Given the description of an element on the screen output the (x, y) to click on. 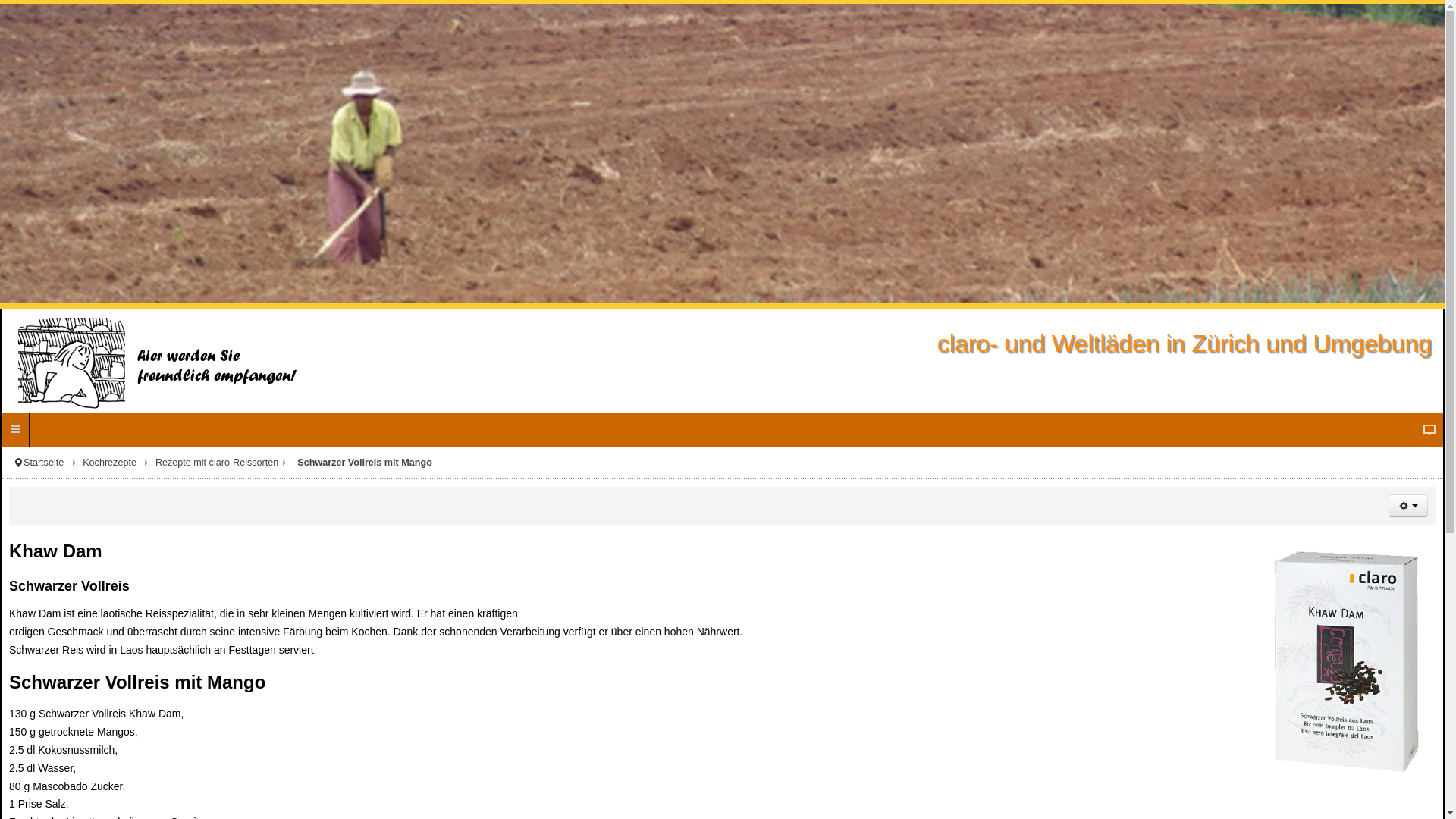
Startseite Element type: text (52, 462)
Aktuelle Seite:  Element type: hover (17, 463)
